Given the description of an element on the screen output the (x, y) to click on. 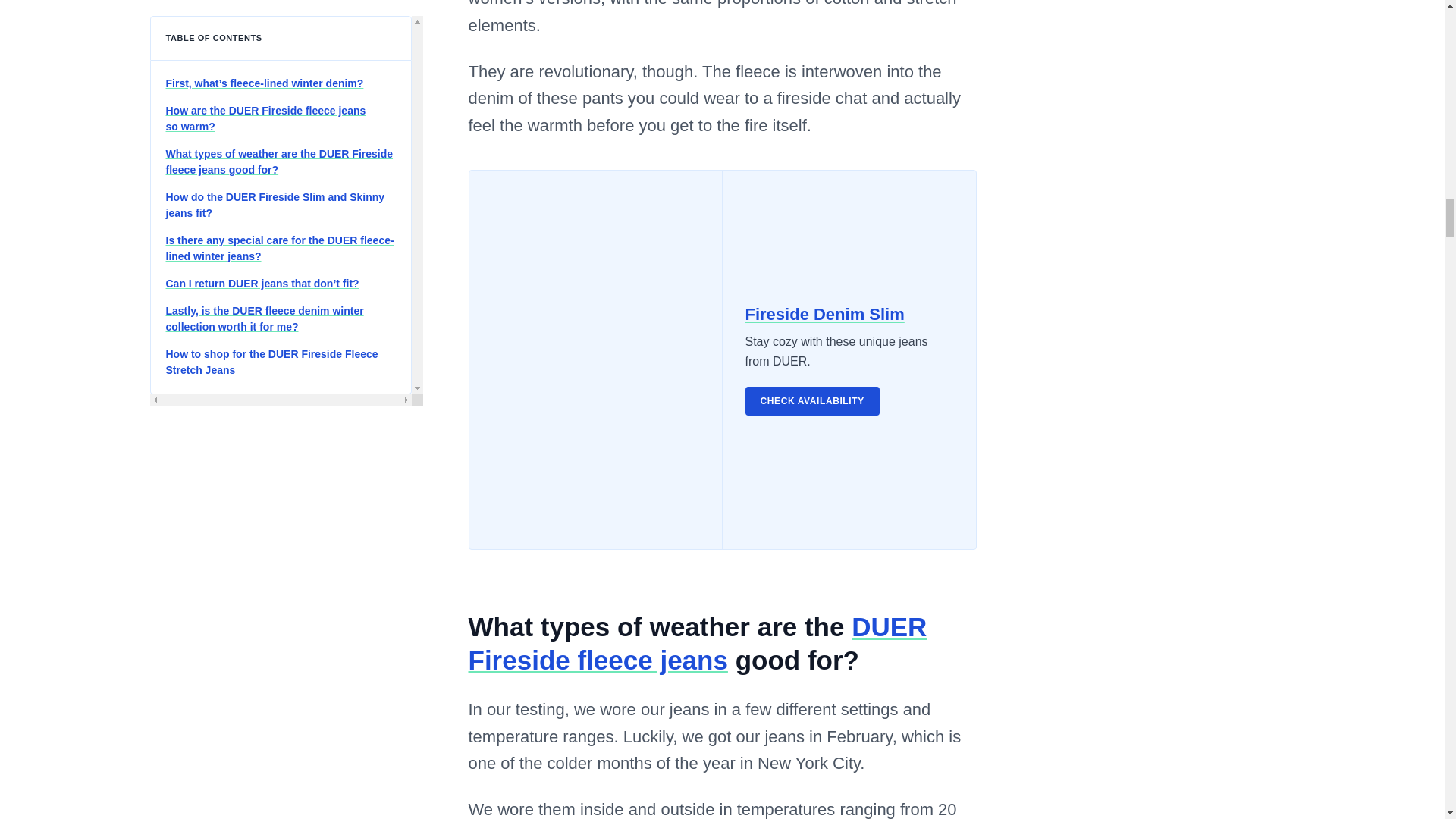
Affiliate Link (824, 313)
Affiliate Link (697, 642)
Affiliate Link (811, 400)
